Given the description of an element on the screen output the (x, y) to click on. 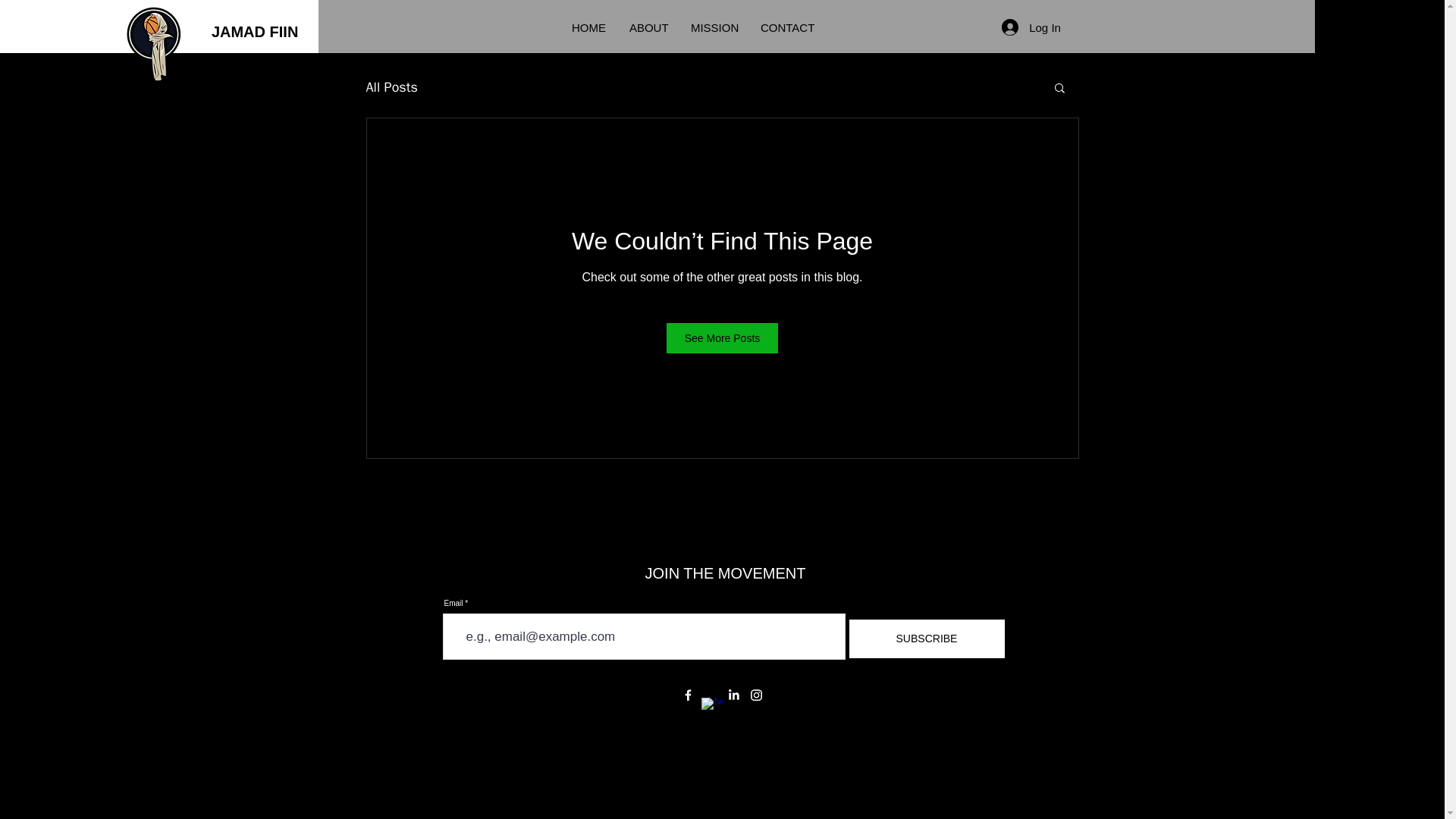
Donate (1378, 27)
HOME (588, 28)
See More Posts (722, 337)
All Posts (390, 86)
CONTACT (788, 28)
MISSION (714, 28)
ABOUT (648, 28)
SUBSCRIBE (925, 638)
Log In (1031, 27)
JAMAD FIIN (261, 31)
